Given the description of an element on the screen output the (x, y) to click on. 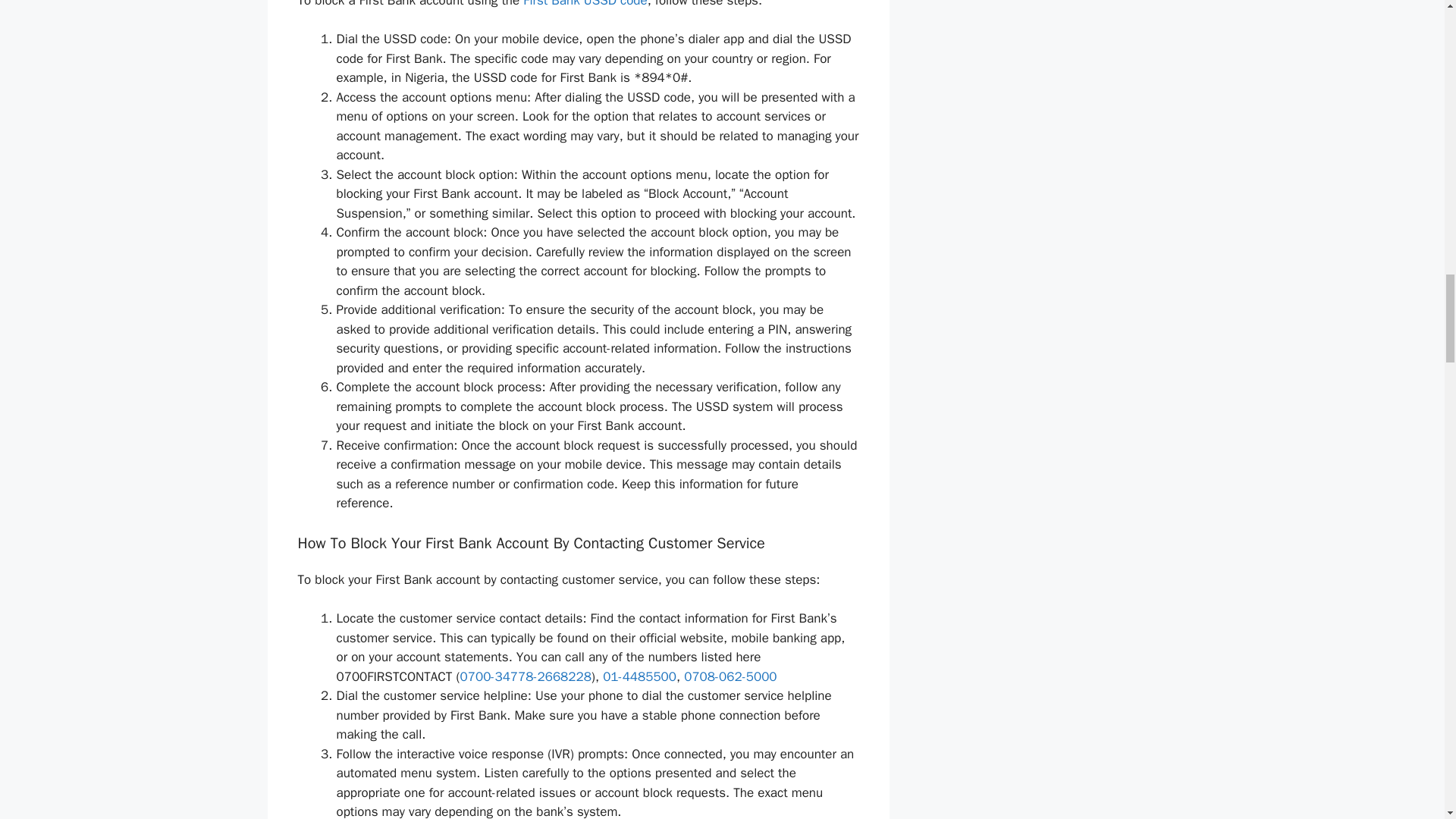
0700-34778-2668228 (525, 676)
0708-062-5000 (730, 676)
01-4485500 (639, 676)
First Bank USSD code (584, 4)
